Given the description of an element on the screen output the (x, y) to click on. 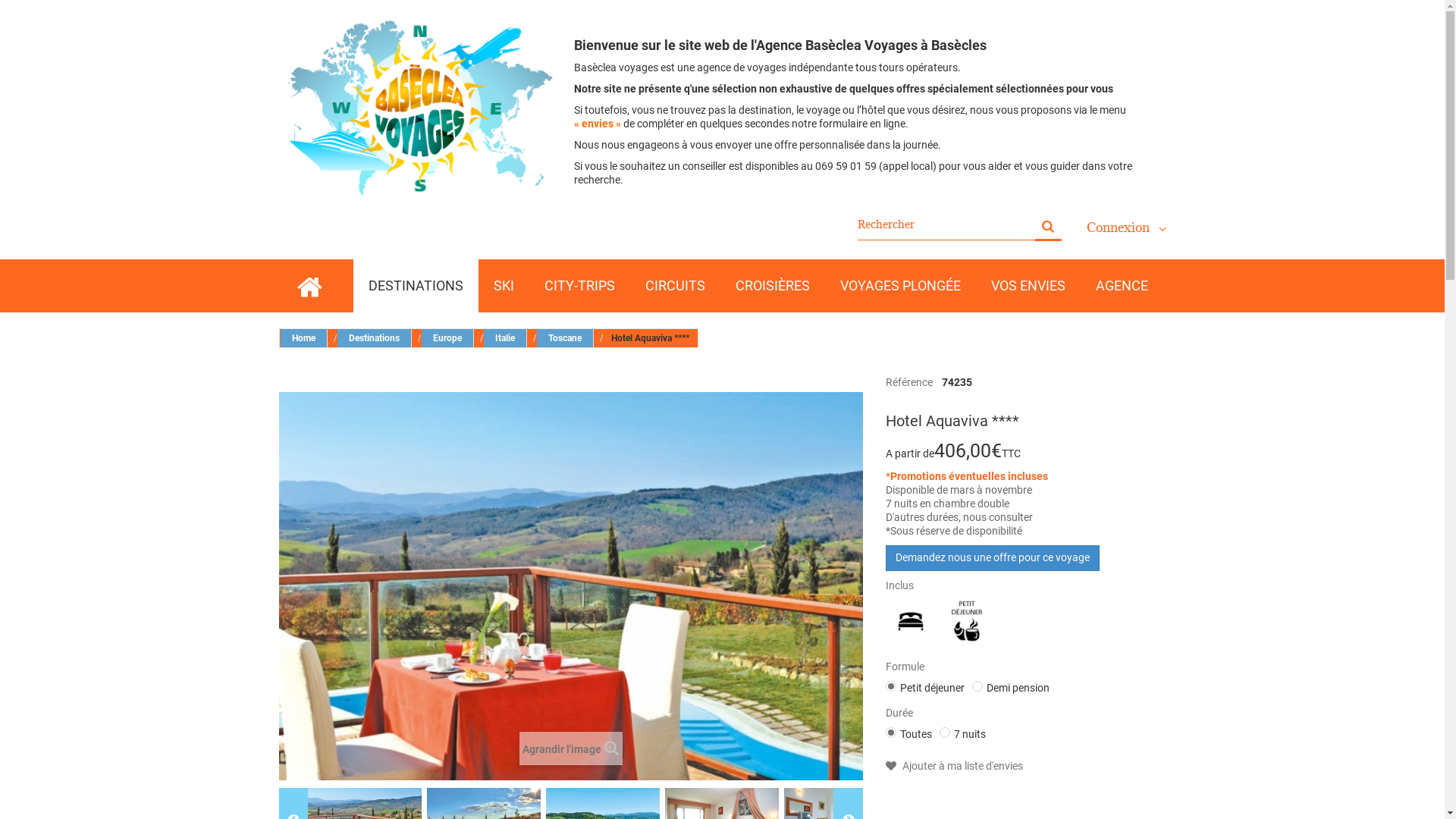
TUI Element type: hover (1028, 382)
Logement Element type: hover (910, 621)
Europe Element type: text (447, 338)
Hotel Aquaviva **** Element type: hover (570, 586)
Demandez nous une offre pour ce voyage Element type: text (992, 558)
SPRL Baseclea Voyages Element type: hover (421, 107)
CIRCUITS Element type: text (674, 285)
Accueil Element type: hover (308, 285)
VOS ENVIES Element type: text (1027, 285)
AGENCE Element type: text (1120, 285)
Logement Element type: hover (909, 620)
Destinations Element type: text (373, 338)
DESTINATIONS Element type: text (415, 285)
Italie Element type: text (505, 338)
SKI Element type: text (502, 285)
Home Element type: text (303, 338)
Toscane Element type: text (564, 338)
Connexion Element type: text (1125, 227)
CITY-TRIPS Element type: text (579, 285)
